Given the description of an element on the screen output the (x, y) to click on. 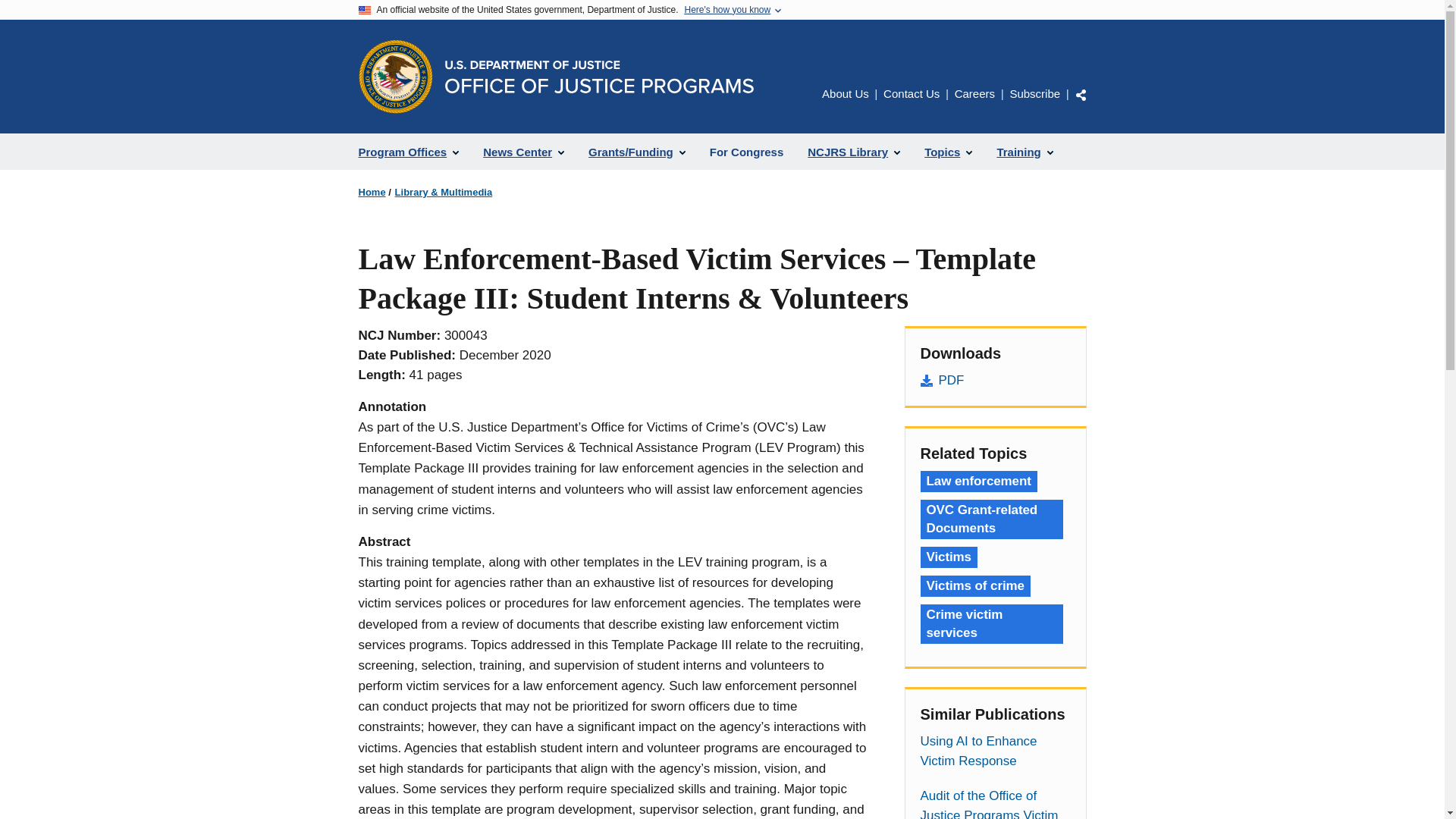
Training (1024, 151)
Home (598, 76)
Share (1080, 94)
NCJRS Library (853, 151)
Victims of crime (975, 586)
Victims (948, 557)
Careers (974, 93)
Choose a social sharing platform (1080, 94)
Topics (948, 151)
PDF (995, 380)
